Given the description of an element on the screen output the (x, y) to click on. 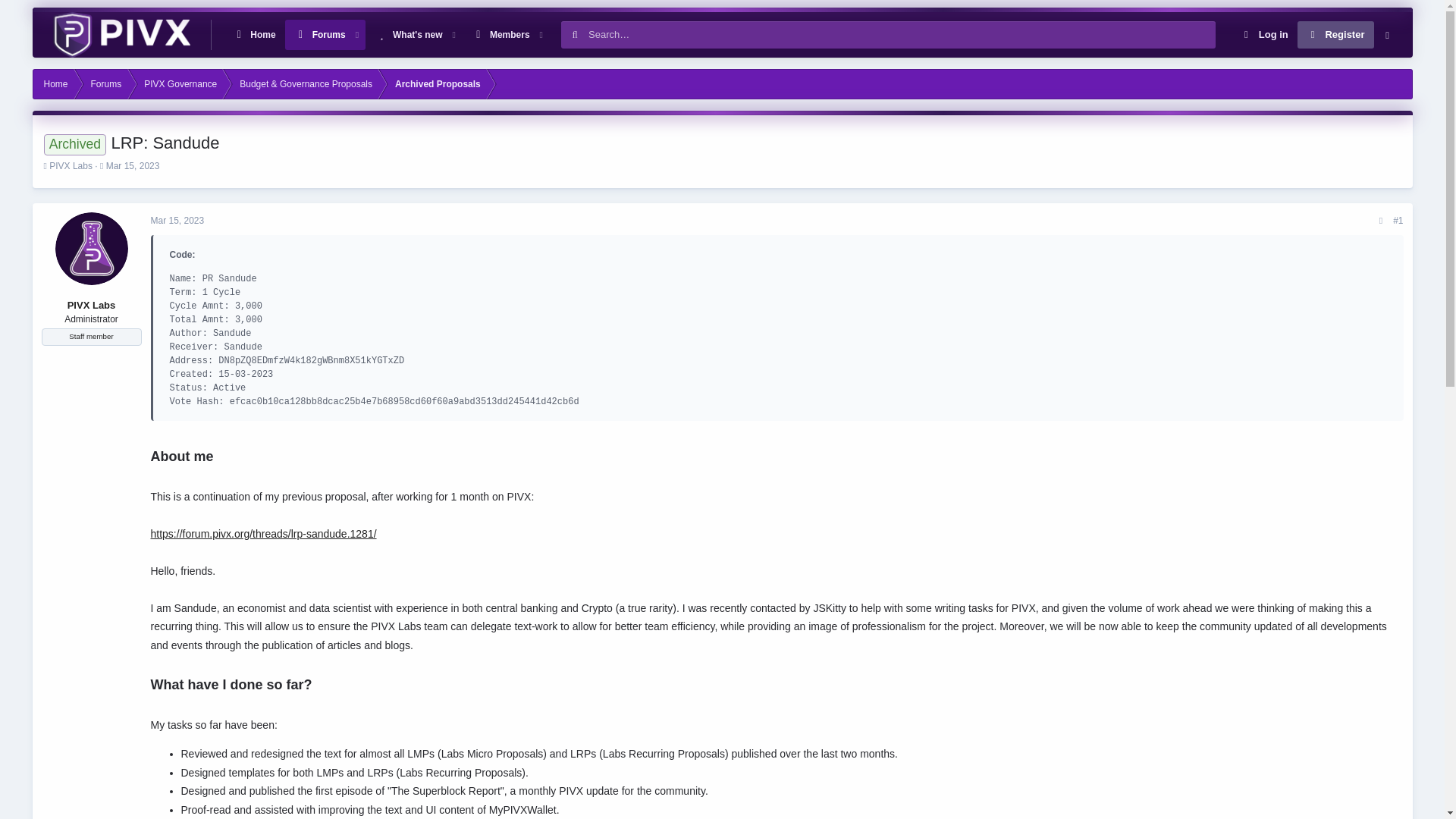
Archived Proposals (438, 83)
Mar 15, 2023 at 3:15 PM (133, 165)
Register (1335, 34)
Members (500, 34)
PIVX Governance (180, 83)
PIVX Labs (386, 34)
Forums (71, 165)
Home (106, 83)
Log in (252, 34)
Home (1263, 34)
Mar 15, 2023 at 3:15 PM (55, 83)
Forums (176, 220)
What's new (320, 34)
